Given the description of an element on the screen output the (x, y) to click on. 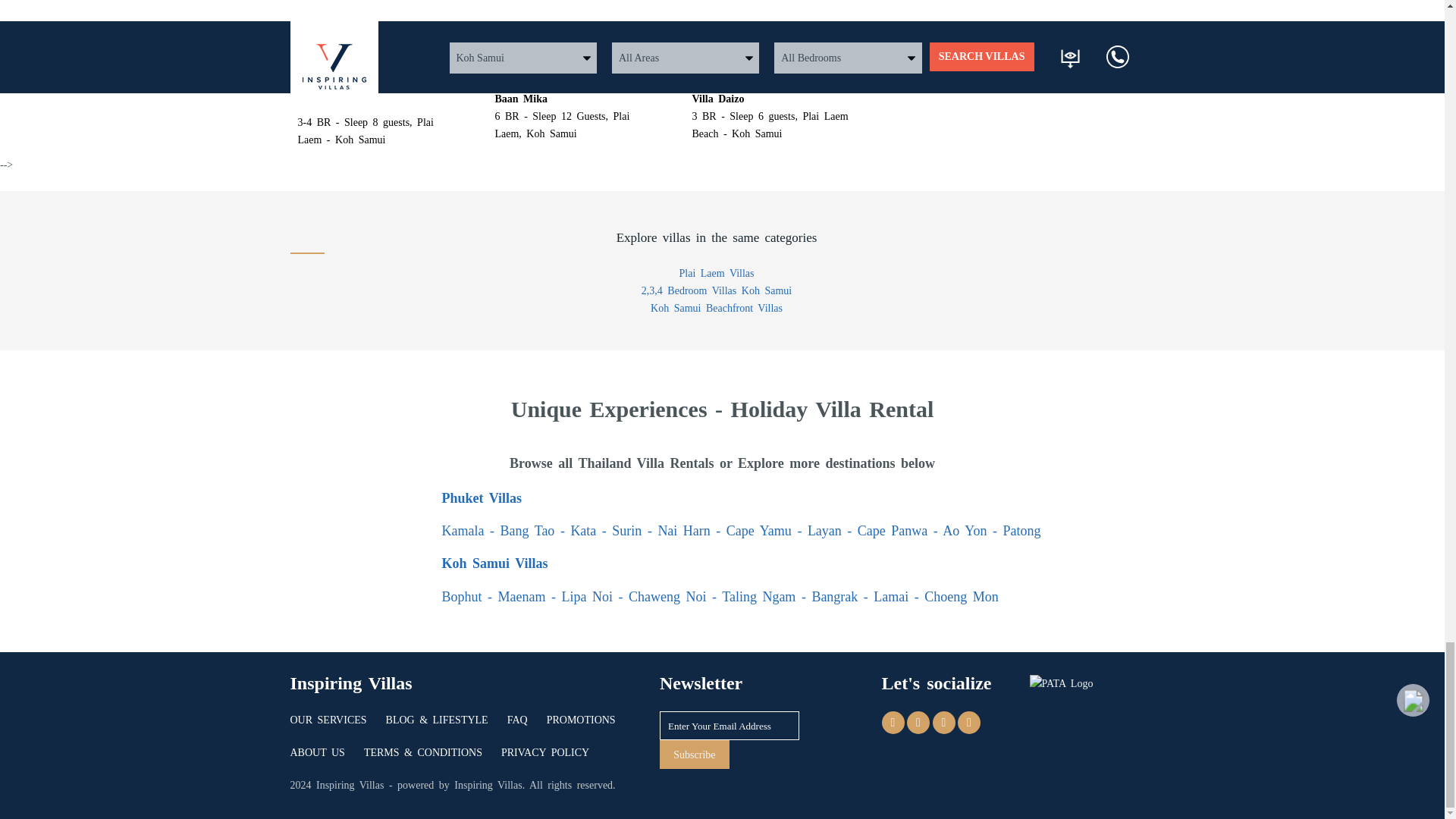
Subscribe (694, 754)
